Given the description of an element on the screen output the (x, y) to click on. 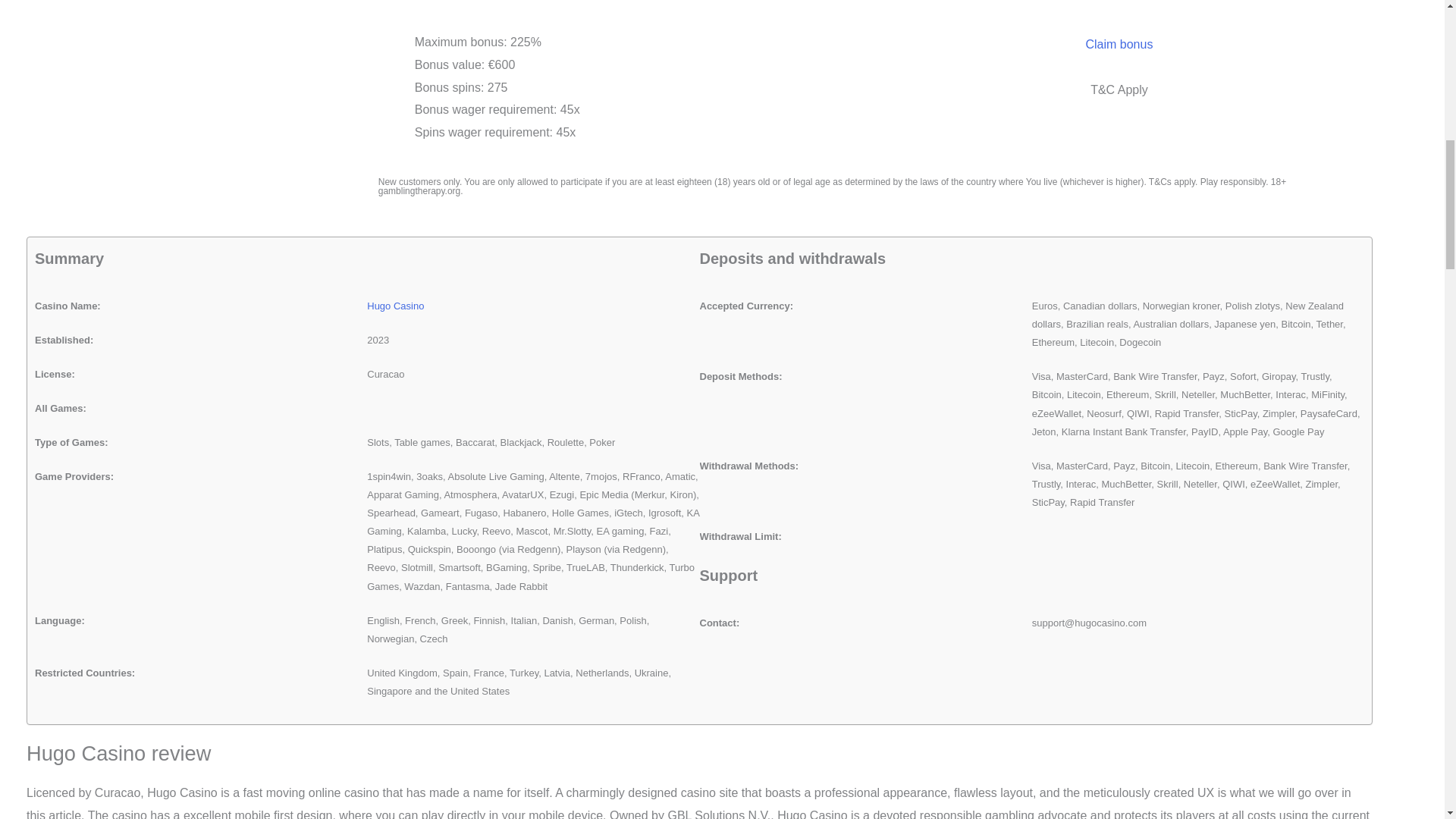
Hugo Casino (394, 306)
Claim bonus (1118, 44)
